Given the description of an element on the screen output the (x, y) to click on. 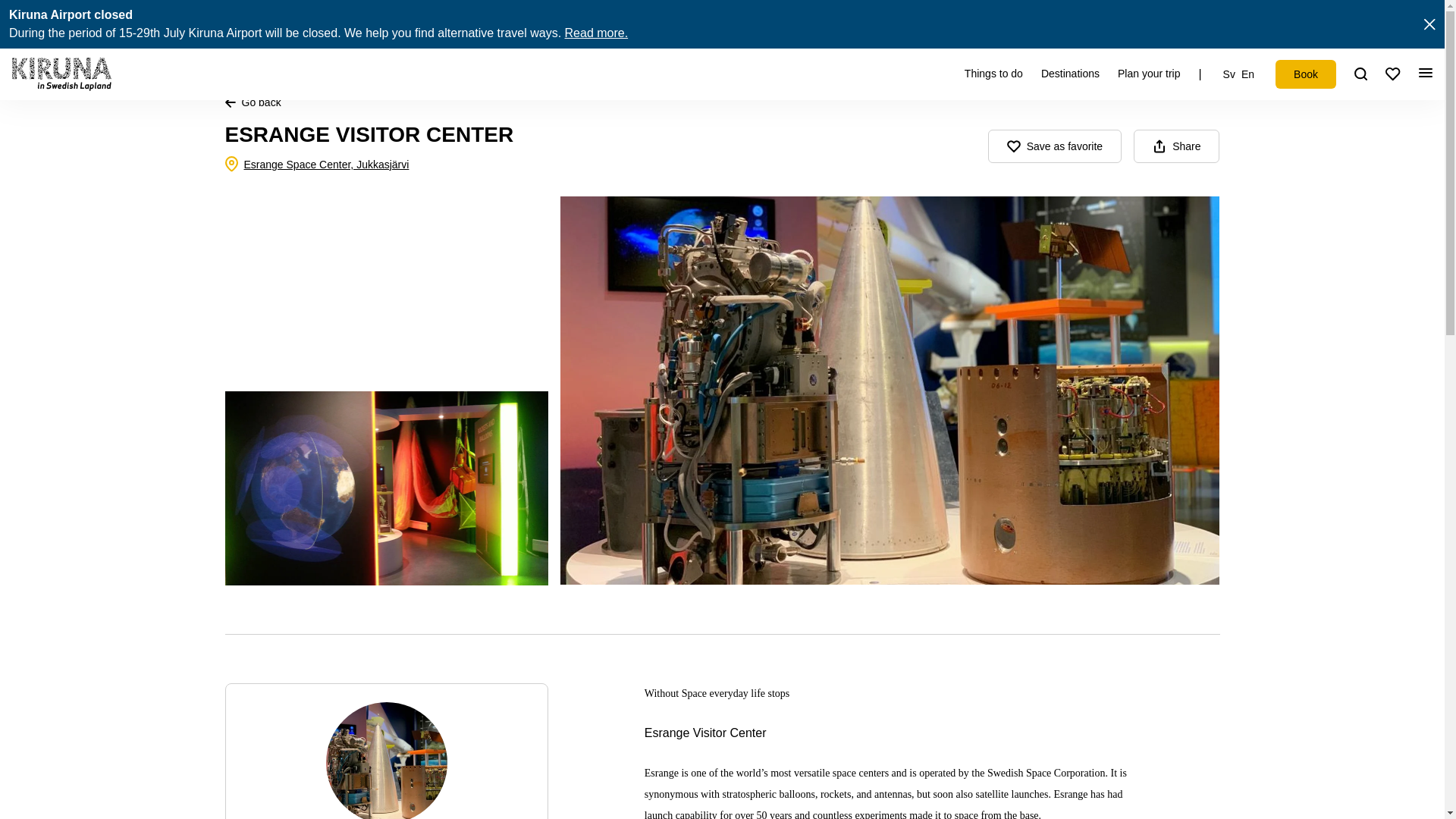
Book (1305, 73)
Destinations (1070, 73)
Things to do (993, 73)
En (1247, 73)
Read more. (596, 32)
Sv (1228, 73)
Plan your trip (1148, 73)
